Given the description of an element on the screen output the (x, y) to click on. 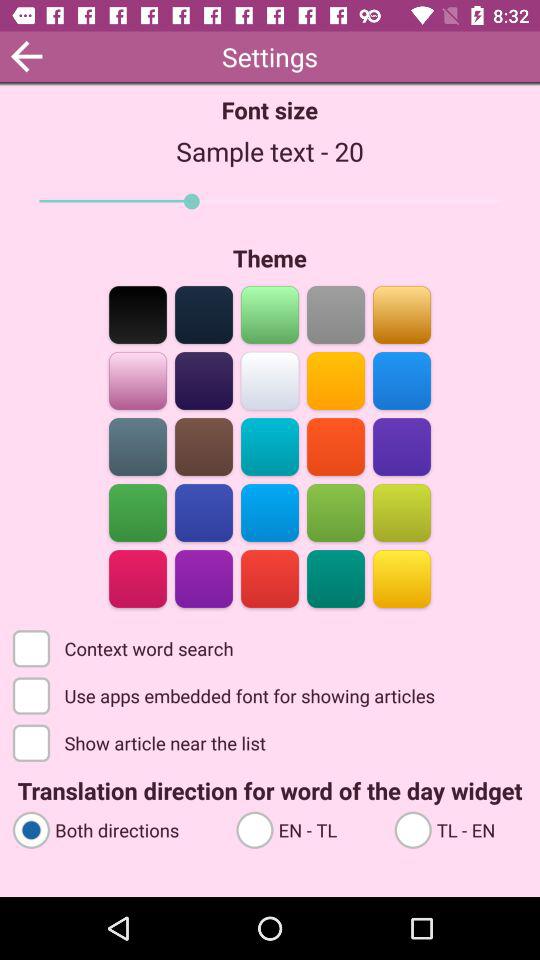
color selection (203, 577)
